Given the description of an element on the screen output the (x, y) to click on. 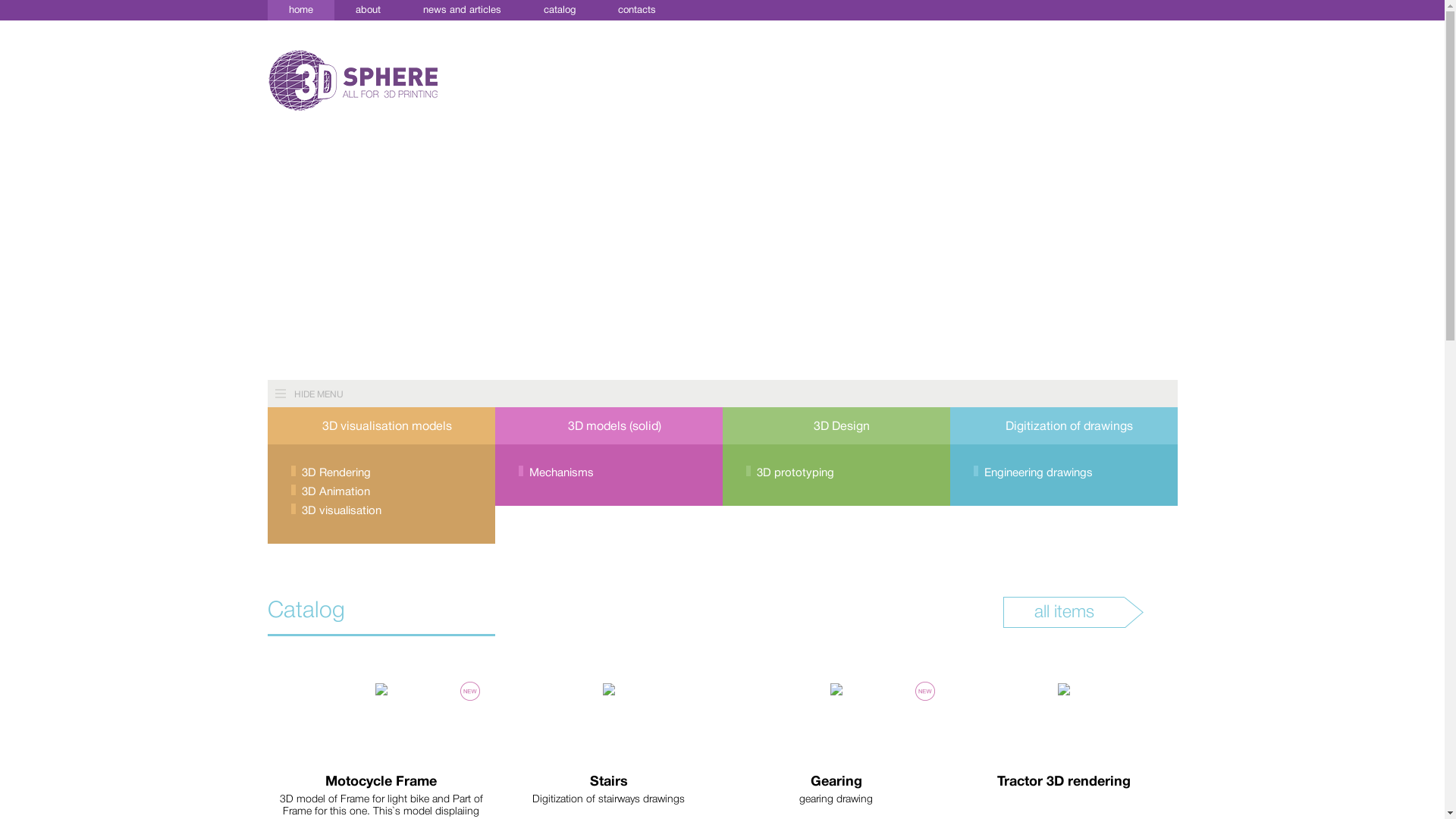
Mechanisms Element type: text (612, 472)
Digitization of drawings Element type: text (1062, 425)
HIDE MENU Element type: text (607, 394)
3D visualisation models Element type: text (380, 425)
about Element type: text (367, 10)
all items Element type: text (1062, 611)
home Element type: text (299, 10)
3D prototyping Element type: text (840, 472)
3D Design Element type: text (835, 425)
3D Animation Element type: text (385, 491)
3D models (solid) Element type: text (607, 425)
3D Rendering Element type: text (385, 472)
Engineering drawings Element type: text (1067, 472)
3D visualisation Element type: text (385, 510)
news and articles Element type: text (461, 10)
contacts Element type: text (636, 10)
catalog Element type: text (558, 10)
